Given the description of an element on the screen output the (x, y) to click on. 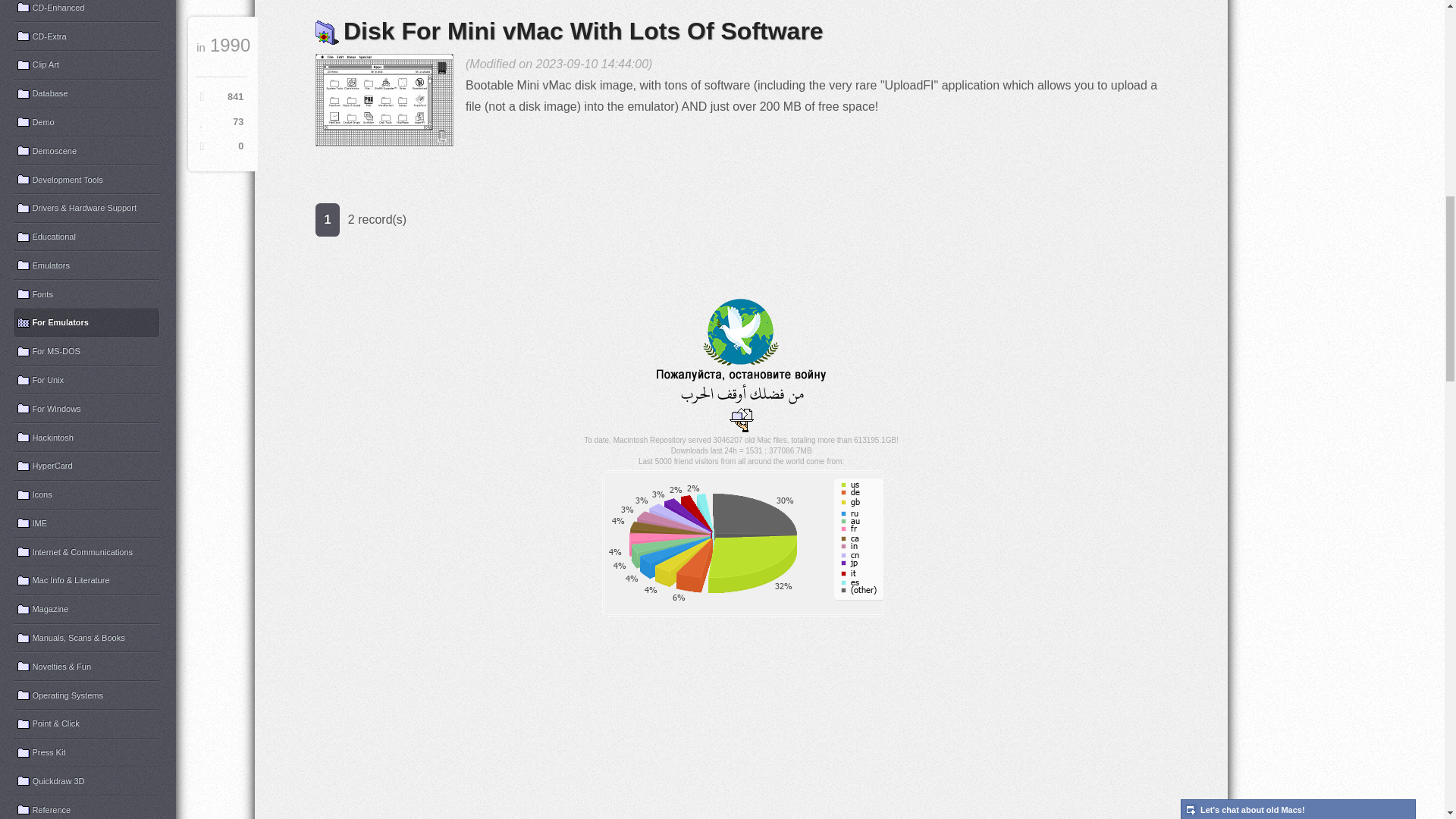
Views (219, 97)
AppleShare logo from System 7! (741, 419)
Bot views (219, 122)
Comments (219, 146)
Please, stop war. (740, 351)
Disk For Mini vMac With Lots Of Software (383, 100)
